Given the description of an element on the screen output the (x, y) to click on. 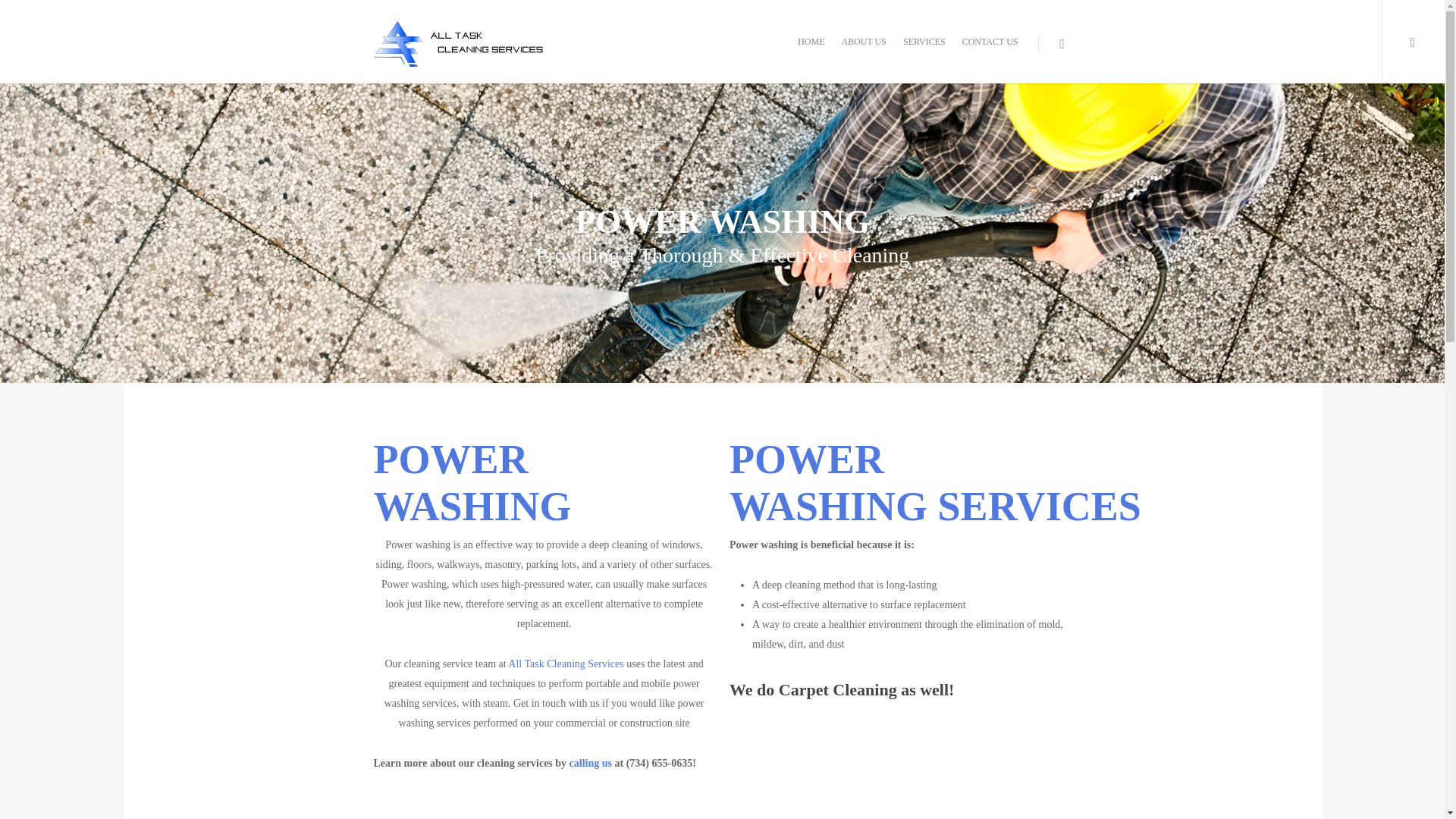
SERVICES (924, 52)
CONTACT US (990, 52)
ABOUT US (862, 52)
All Task Cleaning Services (565, 663)
calling us (590, 763)
